Given the description of an element on the screen output the (x, y) to click on. 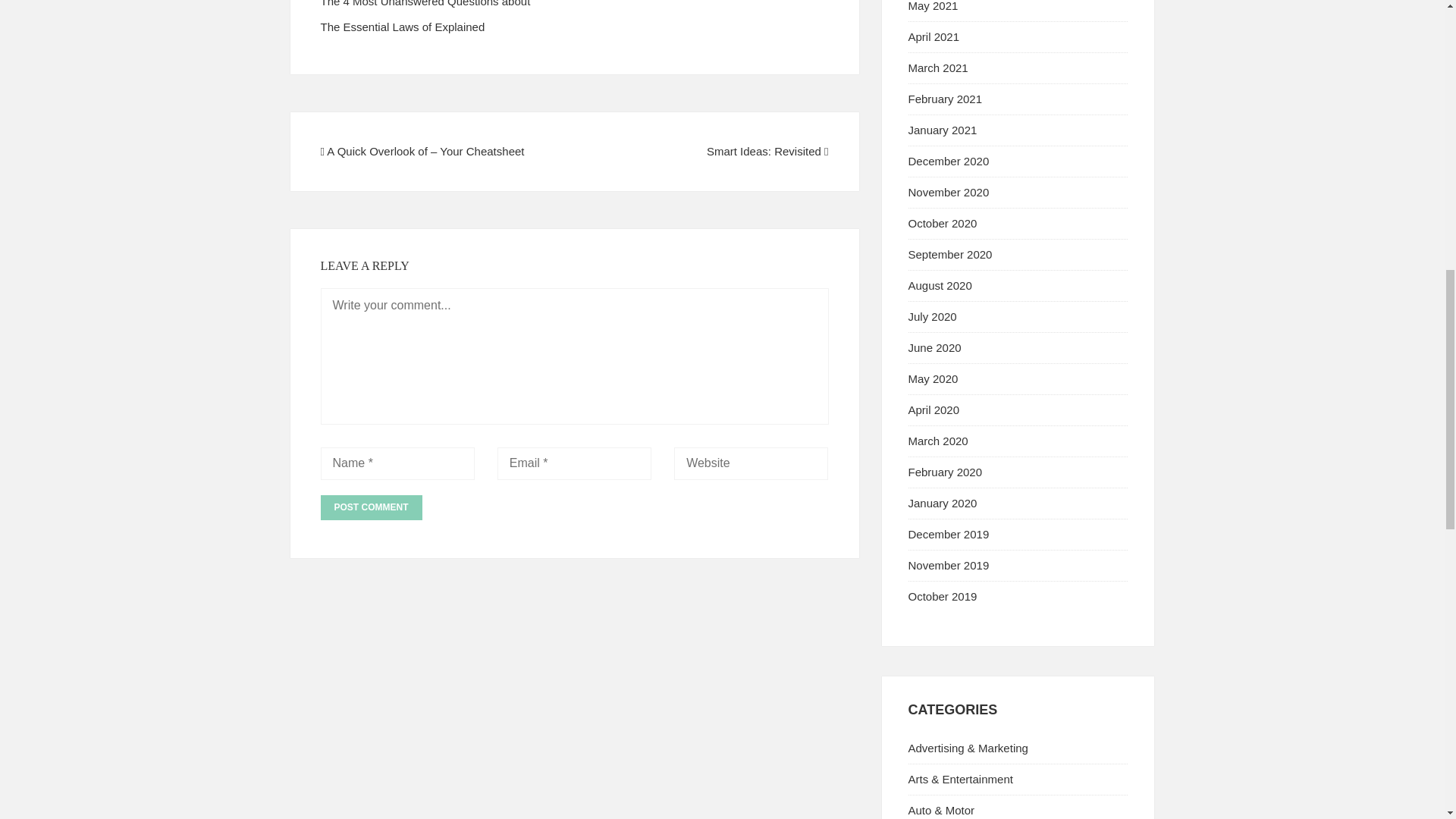
November 2019 (949, 564)
April 2020 (933, 409)
July 2020 (932, 316)
May 2021 (933, 6)
February 2021 (945, 98)
January 2021 (942, 129)
January 2020 (942, 502)
June 2020 (934, 347)
The 4 Most Unanswered Questions about (424, 3)
August 2020 (940, 285)
December 2019 (949, 533)
April 2021 (933, 36)
February 2020 (945, 472)
The Essential Laws of Explained (402, 26)
March 2020 (938, 440)
